Given the description of an element on the screen output the (x, y) to click on. 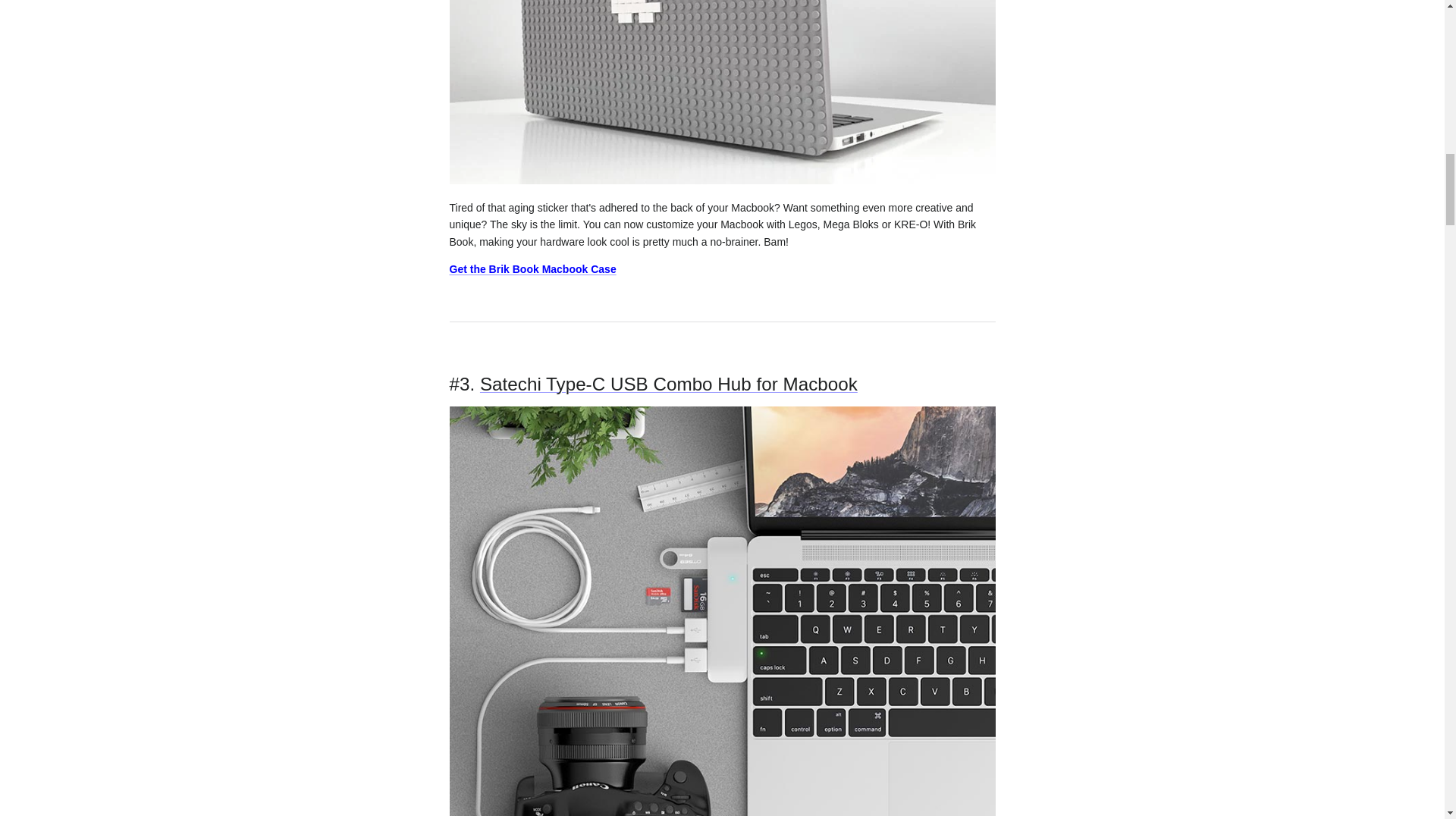
Brik Book Customizable Macbook Case (721, 180)
Satechi Type-C USB 3 Combo Hub (721, 811)
Satechi Type C Combo Hub (668, 383)
Get the Brik Book Macbook Case (531, 268)
